Given the description of an element on the screen output the (x, y) to click on. 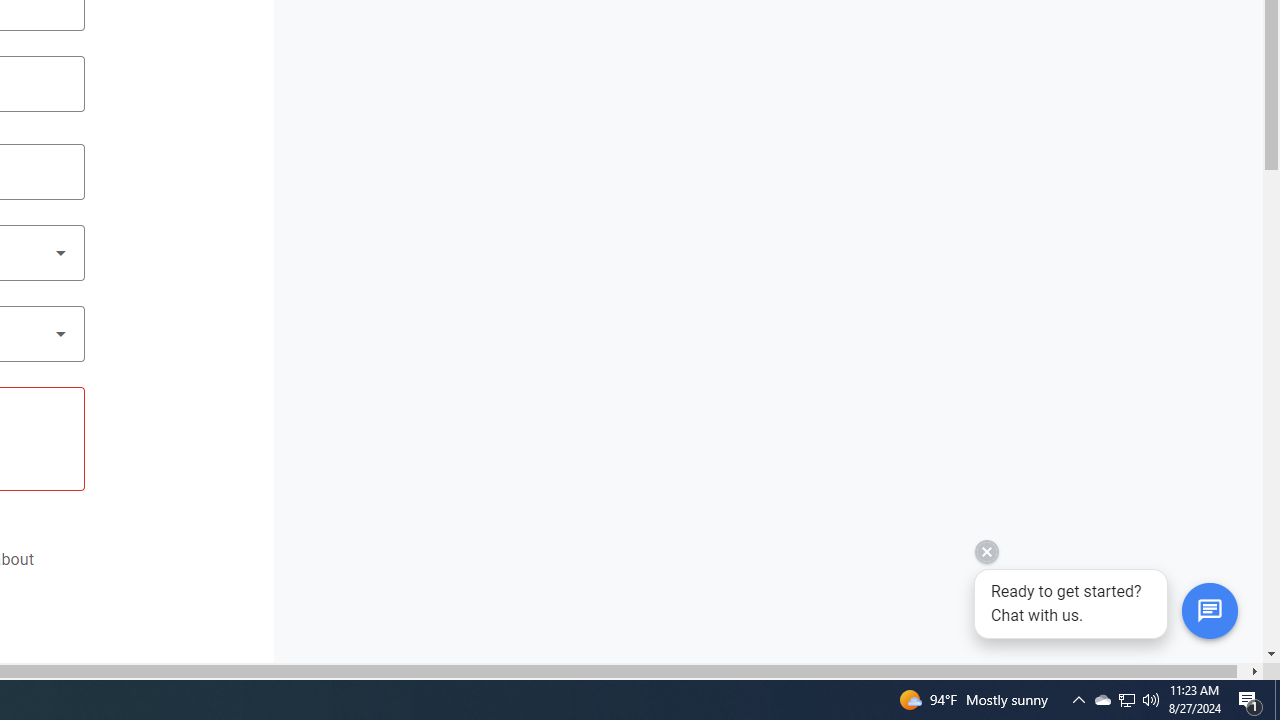
Button to activate chat (1209, 611)
